Given the description of an element on the screen output the (x, y) to click on. 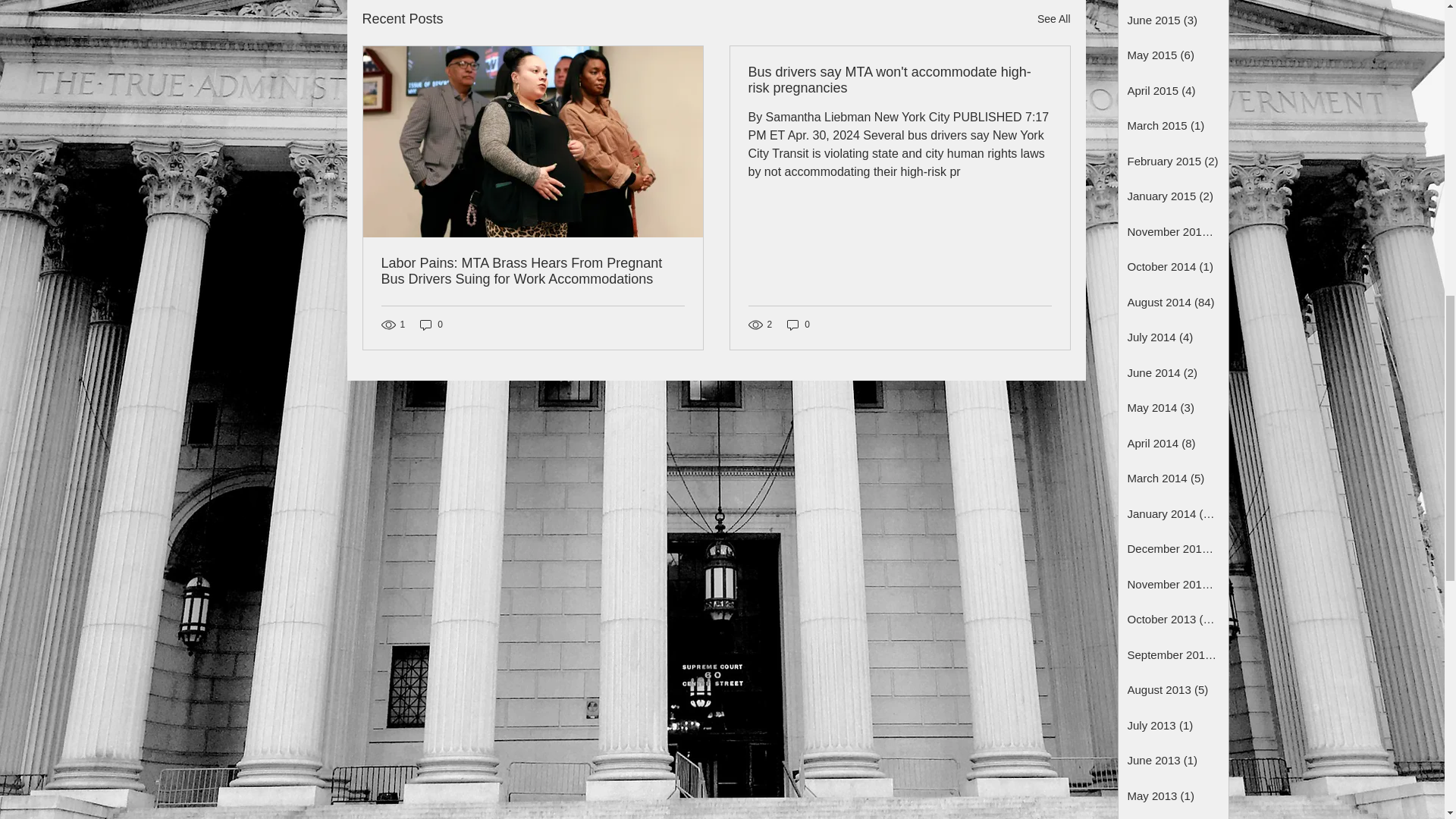
See All (1053, 19)
0 (798, 323)
0 (431, 323)
